Given the description of an element on the screen output the (x, y) to click on. 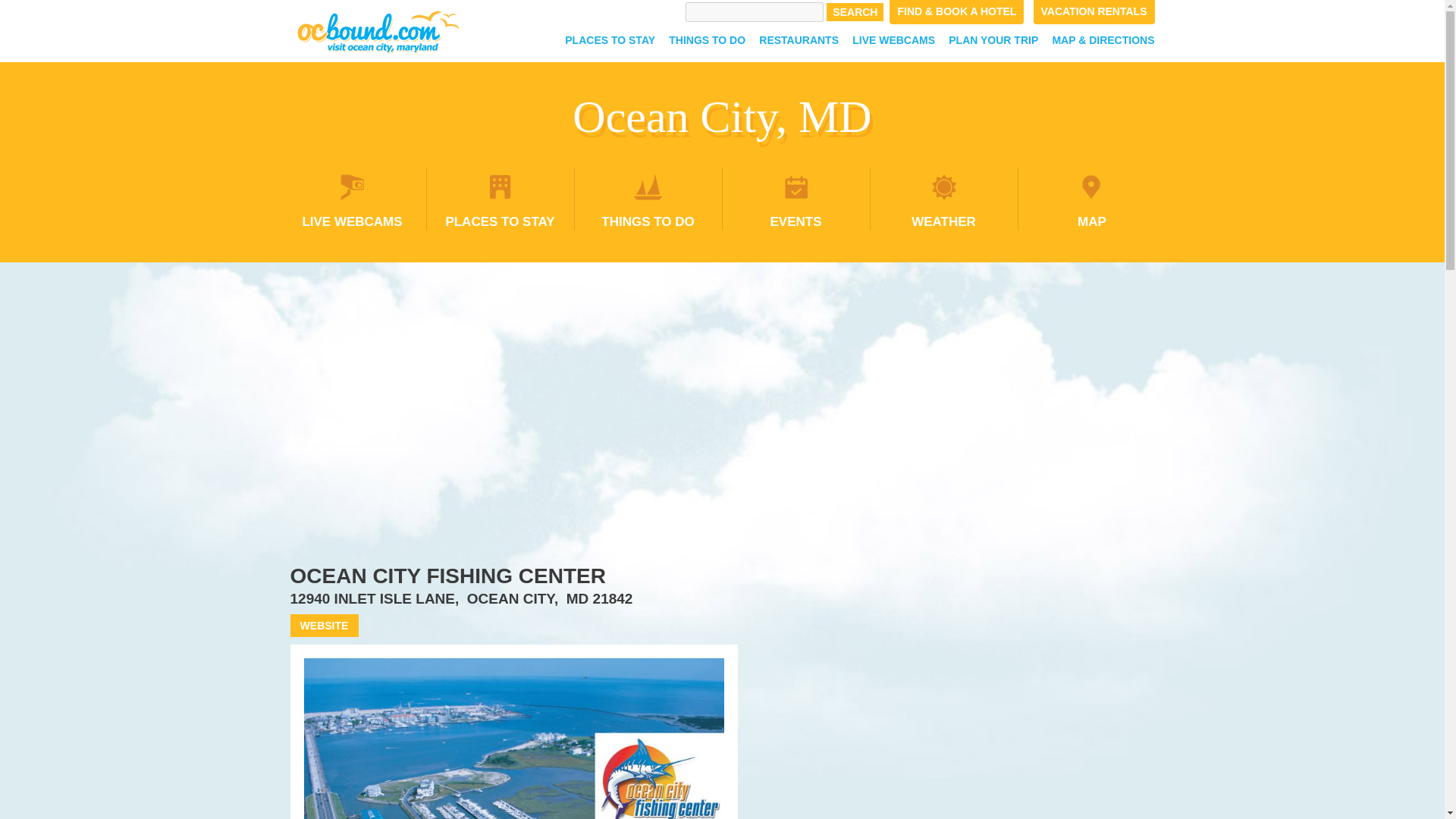
VACATION RENTALS (1093, 12)
RESTAURANTS (799, 39)
THINGS TO DO (647, 198)
THINGS TO DO (707, 39)
WEBSITE (323, 625)
PLAN YOUR TRIP (993, 39)
WEATHER (943, 198)
MAP (1091, 198)
LIVE WEBCAMS (351, 198)
SEARCH (855, 12)
